Given the description of an element on the screen output the (x, y) to click on. 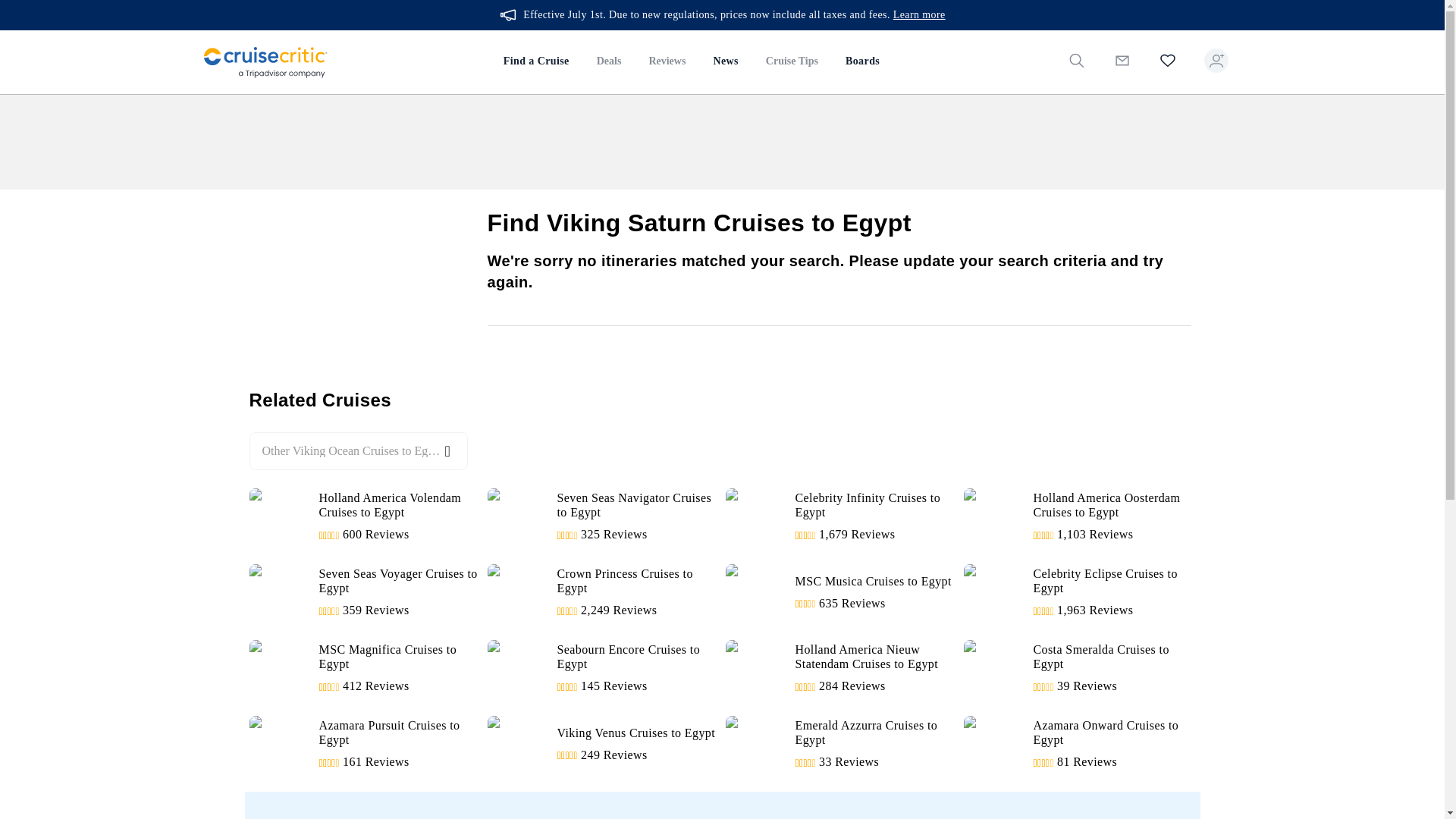
Boards (602, 517)
Cruise Tips (840, 744)
Deals (1078, 744)
Learn more (861, 62)
